Given the description of an element on the screen output the (x, y) to click on. 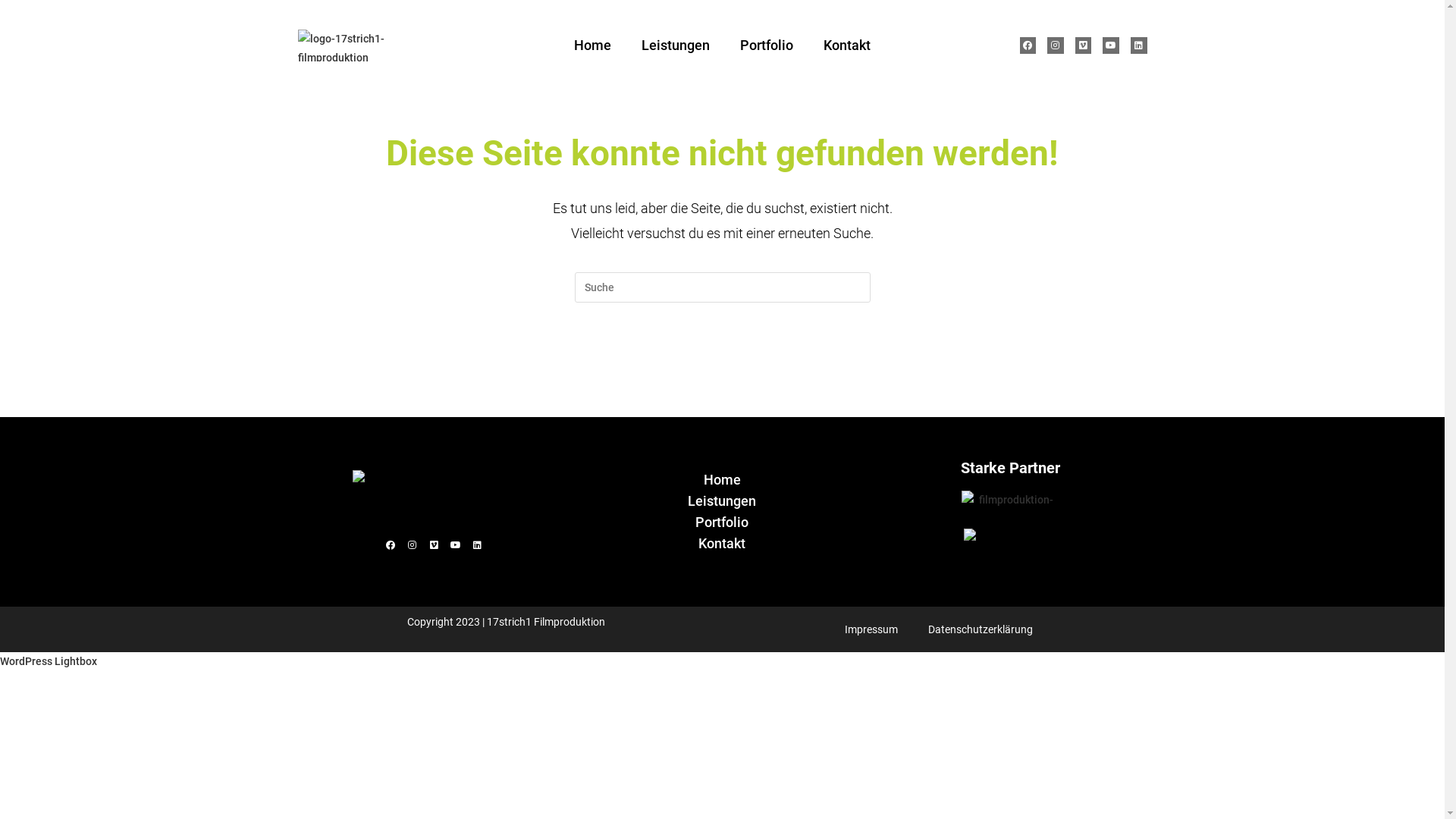
Portfolio Element type: text (766, 45)
WordPress Lightbox Element type: text (48, 661)
Leistungen Element type: text (675, 45)
Home Element type: text (721, 479)
Leistungen Element type: text (721, 501)
Kontakt Element type: text (721, 543)
Home Element type: text (592, 45)
Kontakt Element type: text (846, 45)
Impressum Element type: text (871, 629)
Portfolio Element type: text (721, 522)
